Given the description of an element on the screen output the (x, y) to click on. 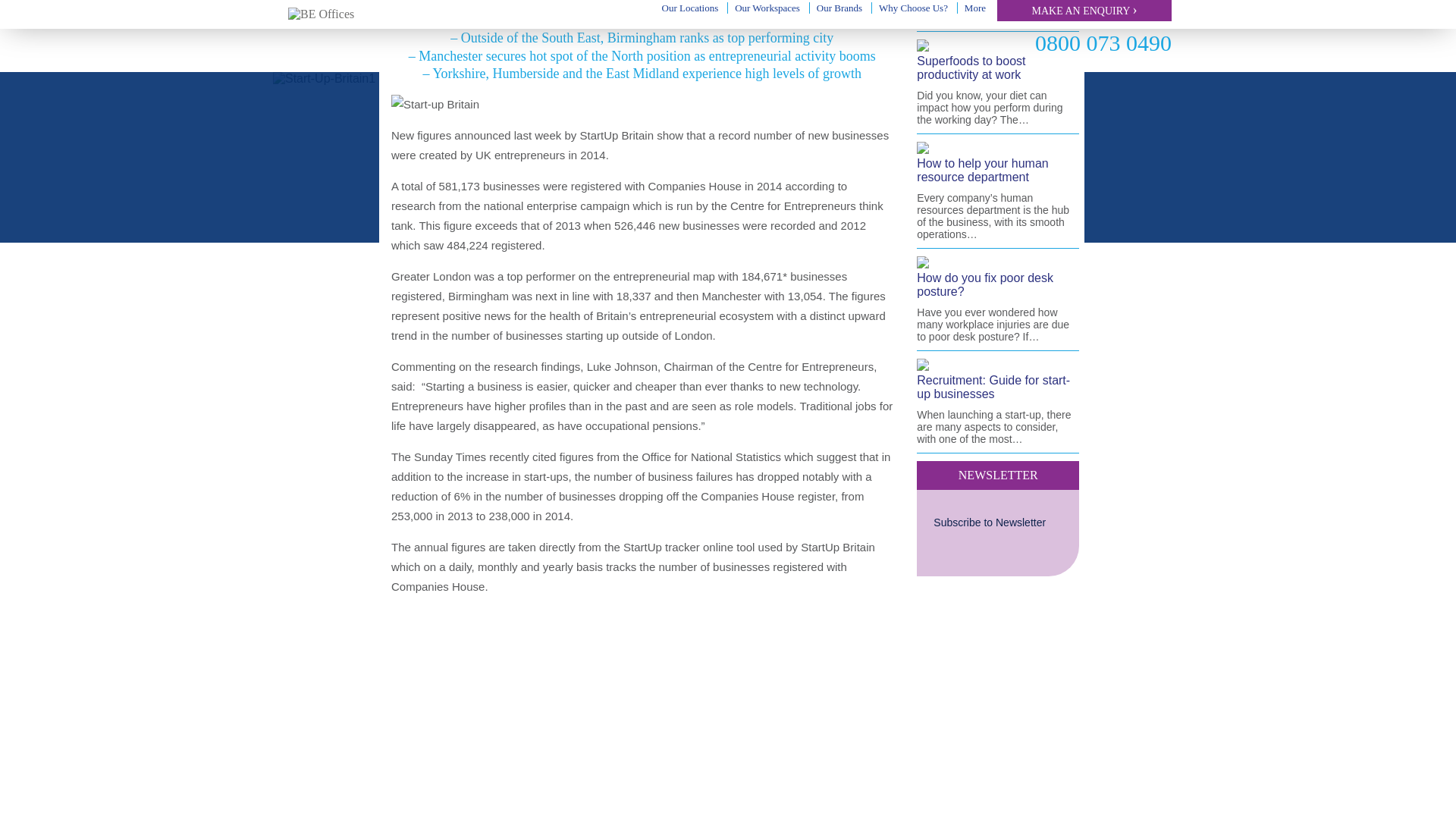
Why Choose Us? (913, 7)
Our Workspaces (767, 7)
Our Brands (838, 7)
Our Locations (690, 7)
